Given the description of an element on the screen output the (x, y) to click on. 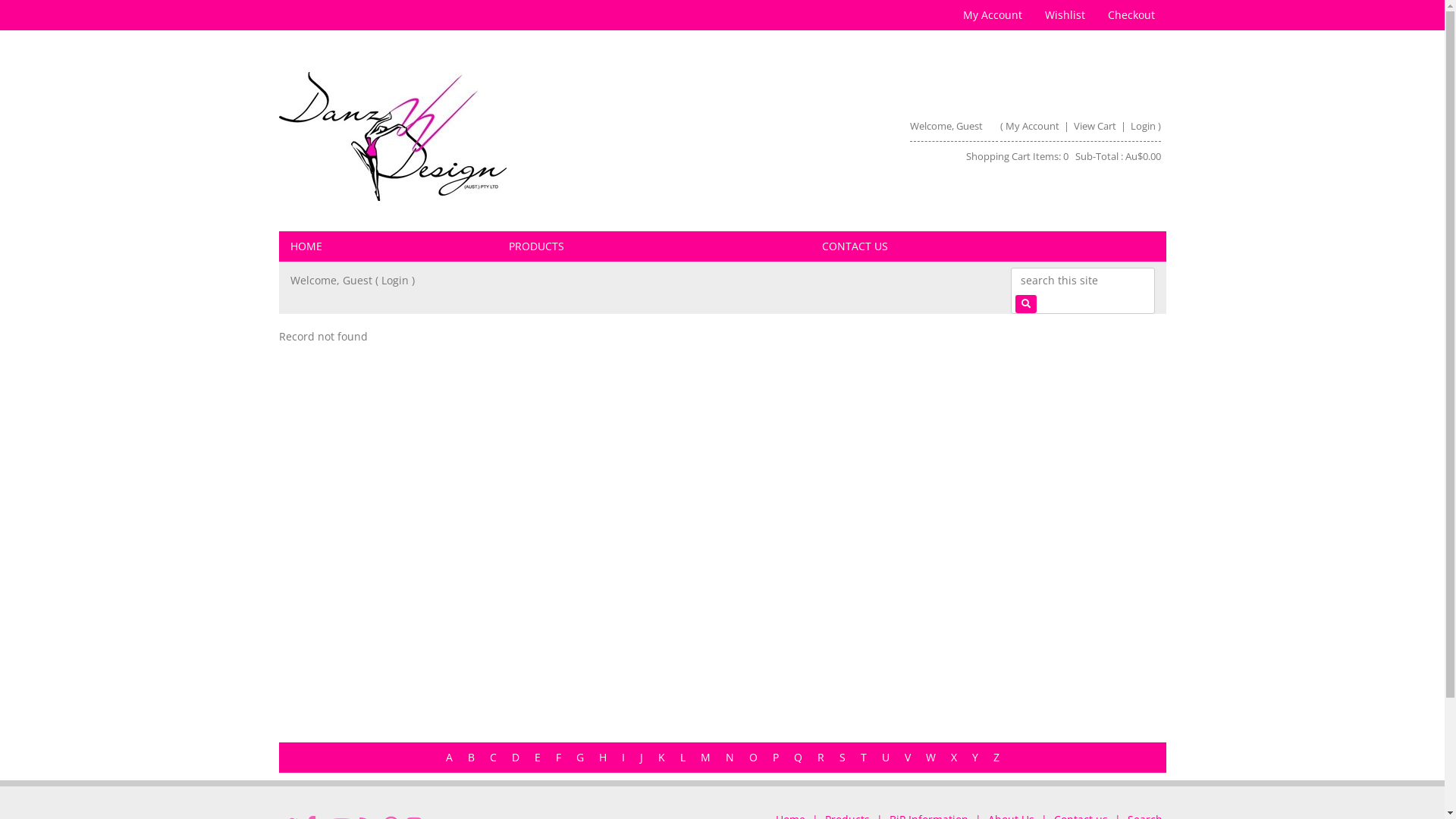
M Element type: text (705, 756)
Y Element type: text (975, 756)
www.danzdesign.com.au Element type: hover (392, 136)
My Account Element type: text (1032, 125)
V Element type: text (906, 756)
PRODUCTS Element type: text (653, 246)
B Element type: text (470, 756)
E Element type: text (536, 756)
View Cart Element type: text (1095, 125)
CONTACT US Element type: text (988, 246)
N Element type: text (728, 756)
C Element type: text (492, 756)
HOME Element type: text (388, 246)
My Account Element type: text (991, 15)
search this site Element type: text (1081, 279)
U Element type: text (884, 756)
T Element type: text (862, 756)
J Element type: text (641, 756)
F Element type: text (557, 756)
A Element type: text (448, 756)
I Element type: text (622, 756)
W Element type: text (930, 756)
L Element type: text (681, 756)
H Element type: text (602, 756)
www.danzdesign.com.au Element type: hover (494, 136)
P Element type: text (774, 756)
Login Element type: text (393, 280)
X Element type: text (953, 756)
D Element type: text (514, 756)
R Element type: text (820, 756)
K Element type: text (661, 756)
Z Element type: text (996, 756)
S Element type: text (841, 756)
G Element type: text (579, 756)
Wishlist Element type: text (1063, 15)
O Element type: text (753, 756)
Checkout Element type: text (1131, 15)
Login Element type: text (1142, 125)
Q Element type: text (797, 756)
